Given the description of an element on the screen output the (x, y) to click on. 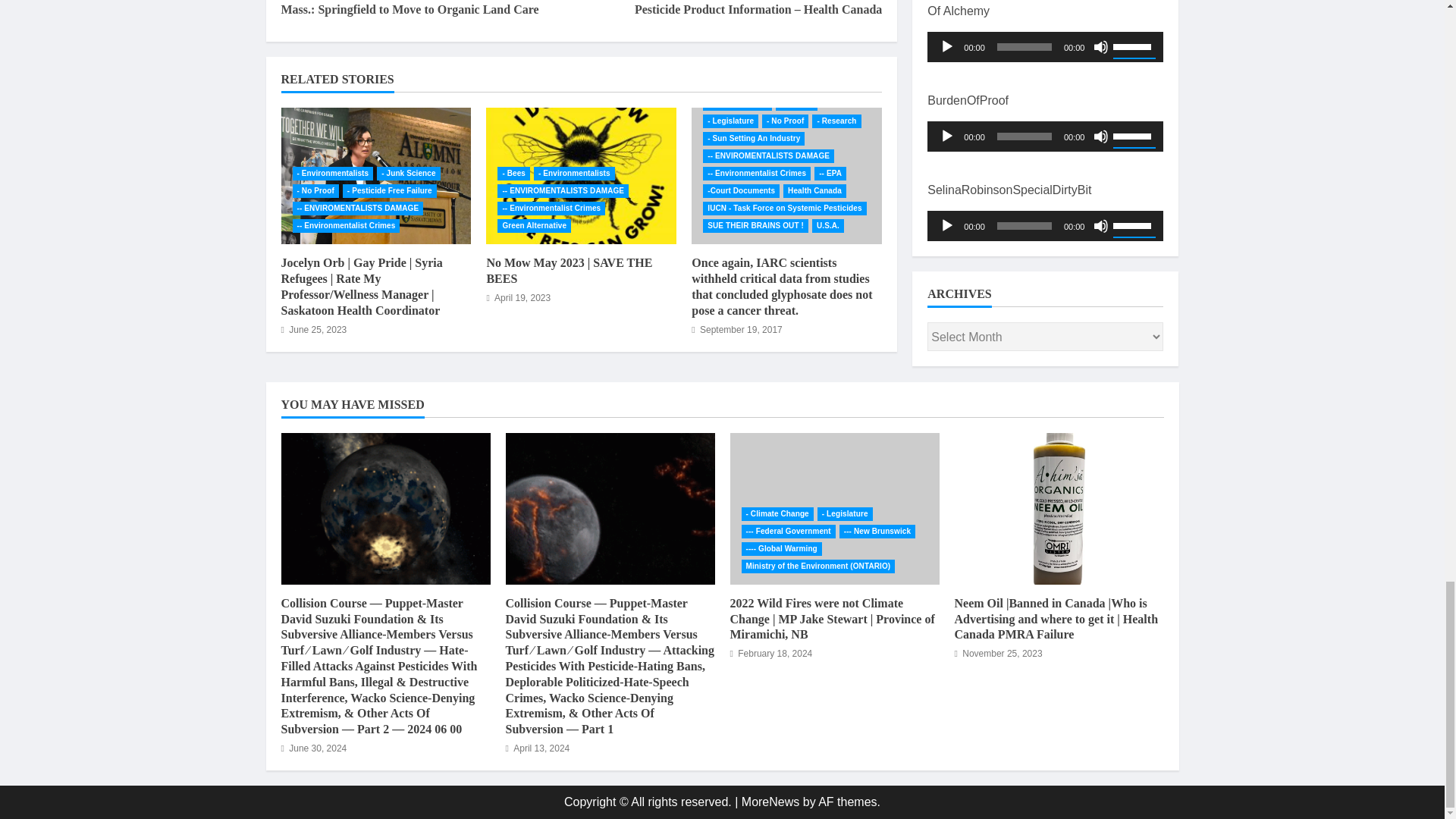
- Pesticide Free Failure (389, 191)
- No Proof (315, 191)
- Junk Science (408, 173)
-- Environmentalist Crimes (346, 225)
-- ENVIROMENTALISTS DAMAGE (357, 208)
- Environmentalists (333, 173)
